Given the description of an element on the screen output the (x, y) to click on. 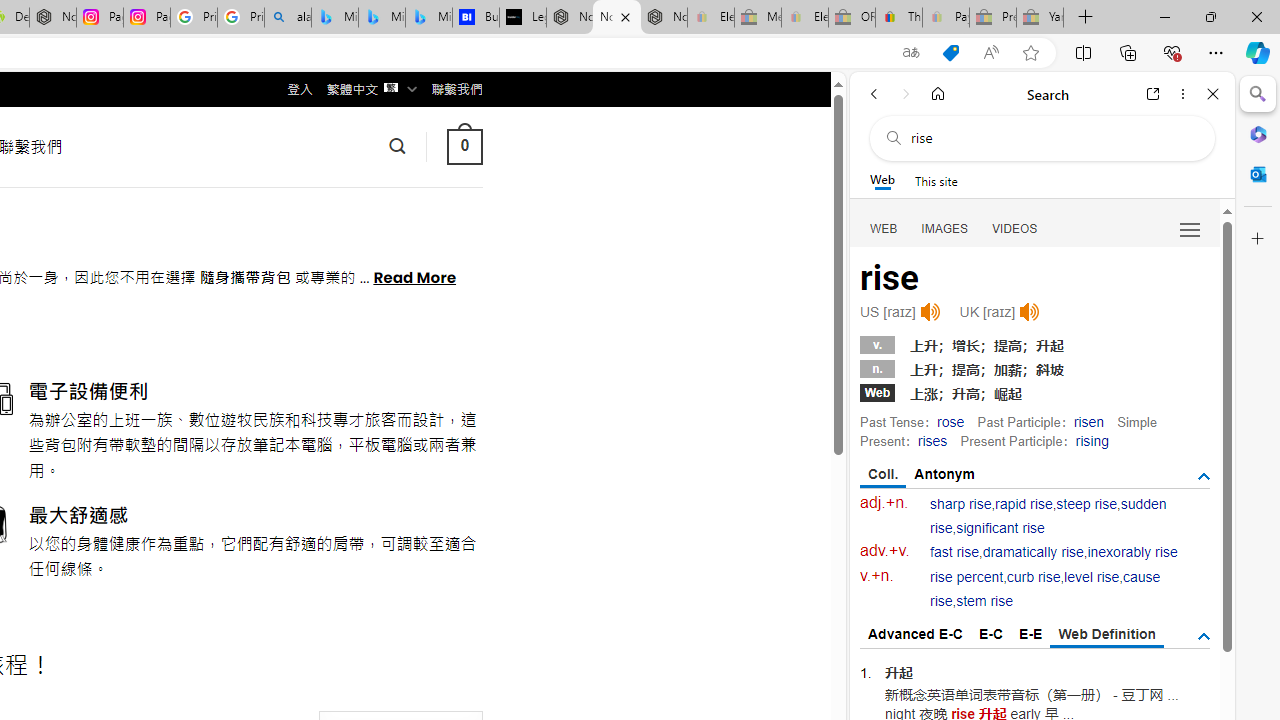
rising (1091, 440)
 0  (464, 146)
rose (950, 421)
Advanced E-C (915, 633)
significant rise (1000, 528)
alabama high school quarterback dies - Search (288, 17)
